Given the description of an element on the screen output the (x, y) to click on. 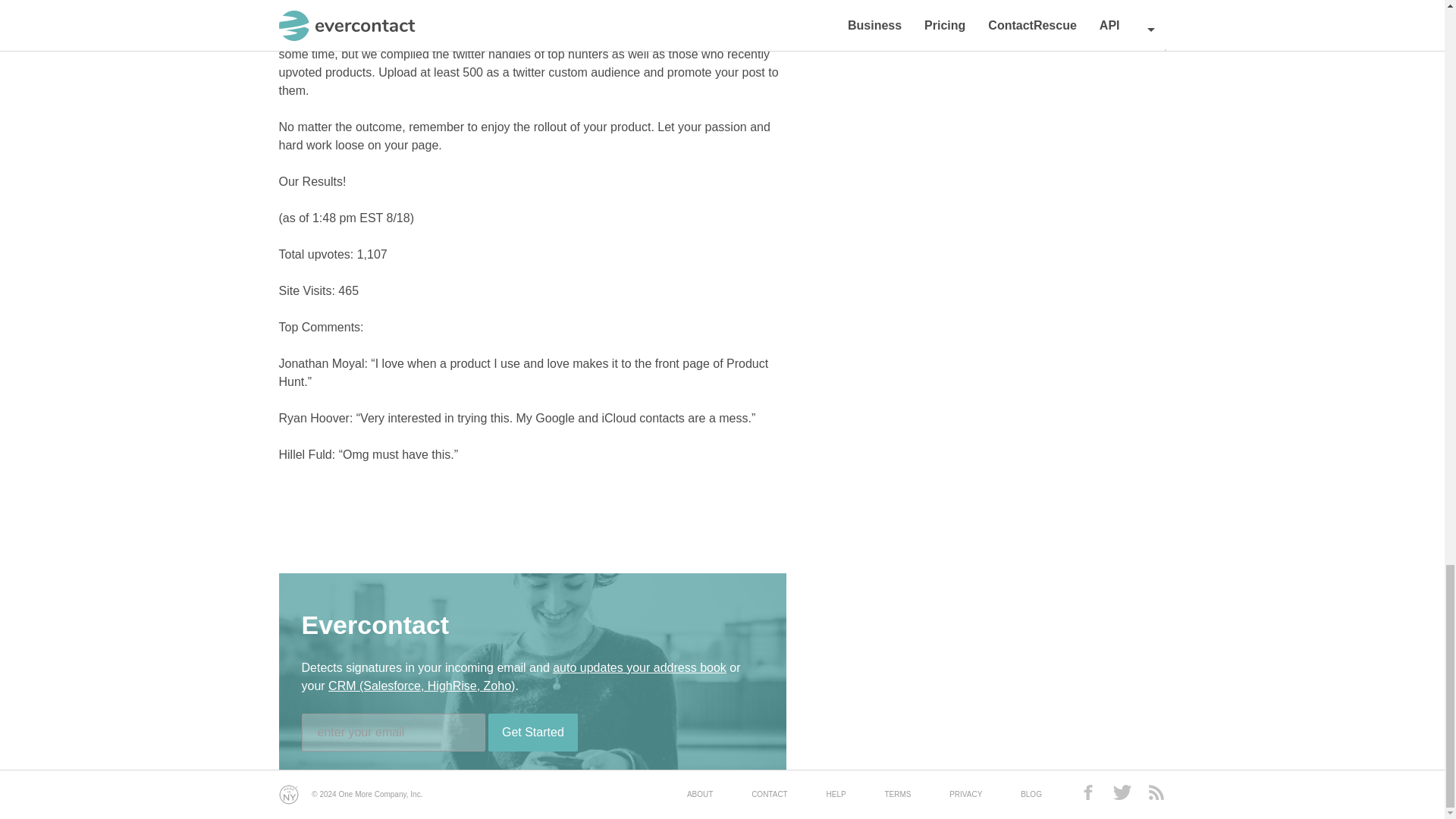
Post-summer productivity tools to get you back on track (528, 2)
Get Started (532, 732)
Get Started (532, 732)
auto updates your address book (639, 667)
